Given the description of an element on the screen output the (x, y) to click on. 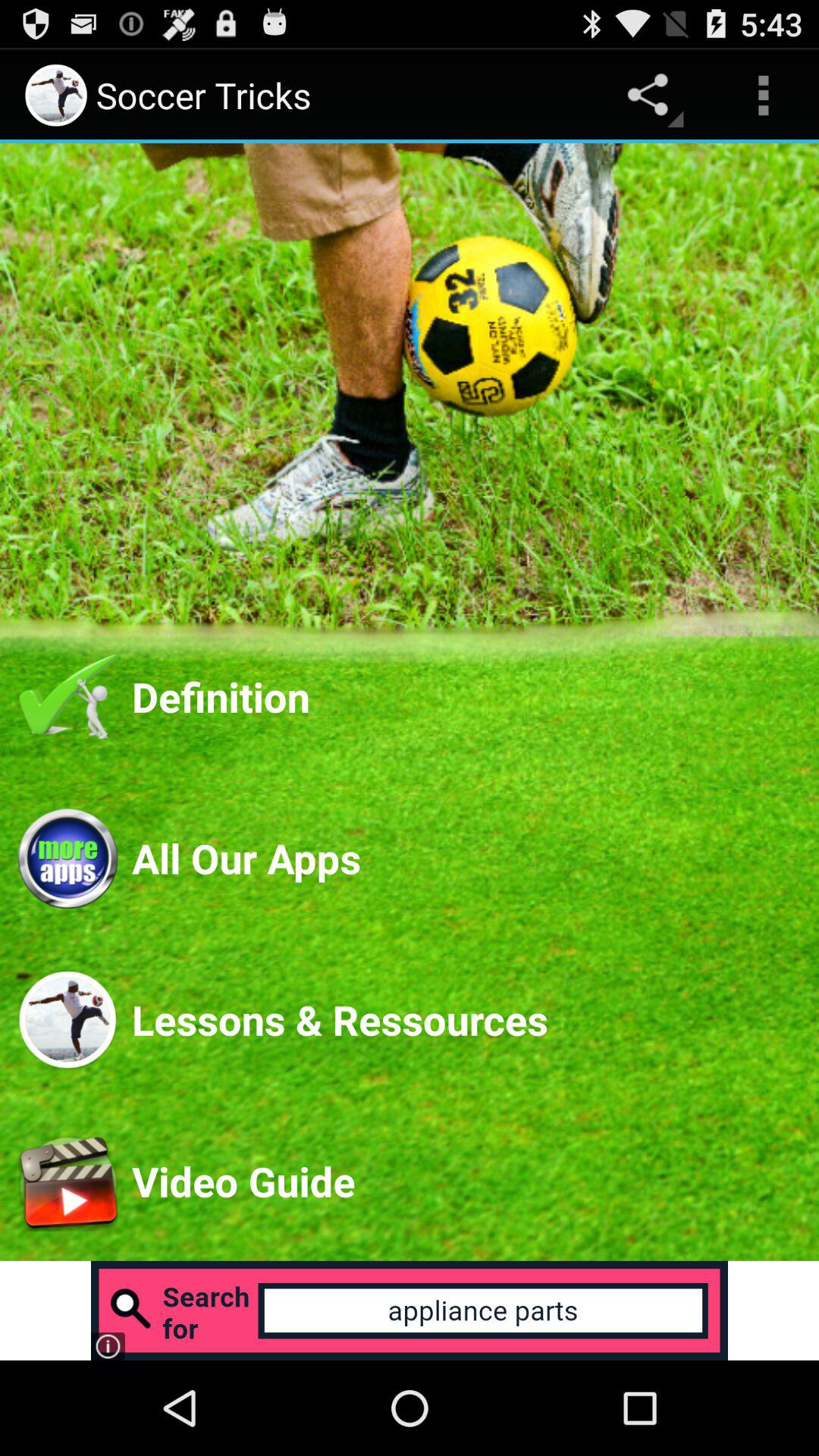
jump to definition icon (465, 696)
